Given the description of an element on the screen output the (x, y) to click on. 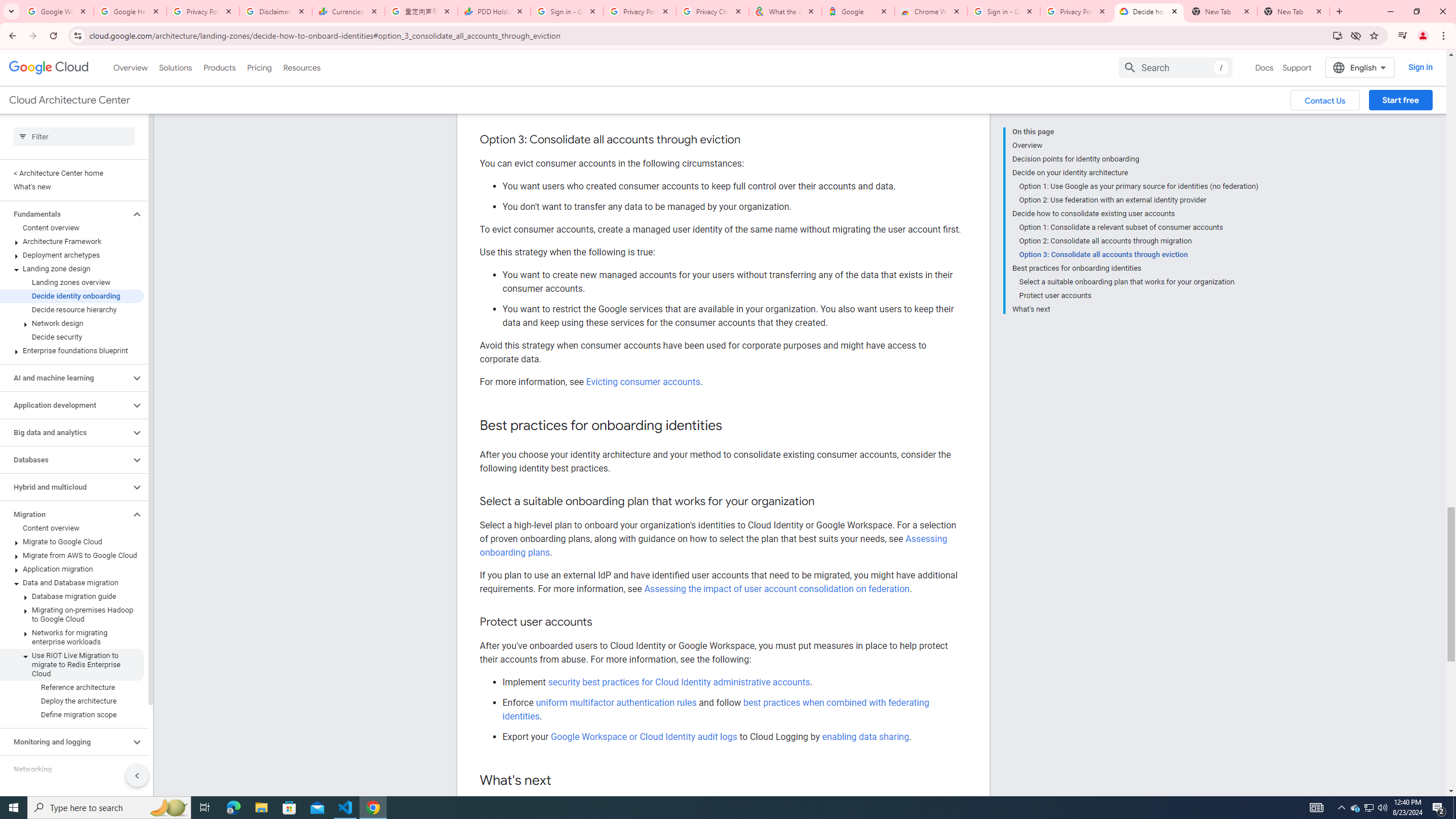
Deploy the architecture (72, 701)
Enterprise foundations blueprint (72, 350)
Decision points for identity onboarding (1134, 159)
Install Google Cloud (1336, 35)
Support (1296, 67)
Copy link to this section: What's next (563, 780)
Content overview (72, 527)
Migrate from AWS to Google Cloud (72, 555)
Migrate to Google Cloud (72, 541)
Hybrid and multicloud (64, 486)
Sign in - Google Accounts (566, 11)
